Given the description of an element on the screen output the (x, y) to click on. 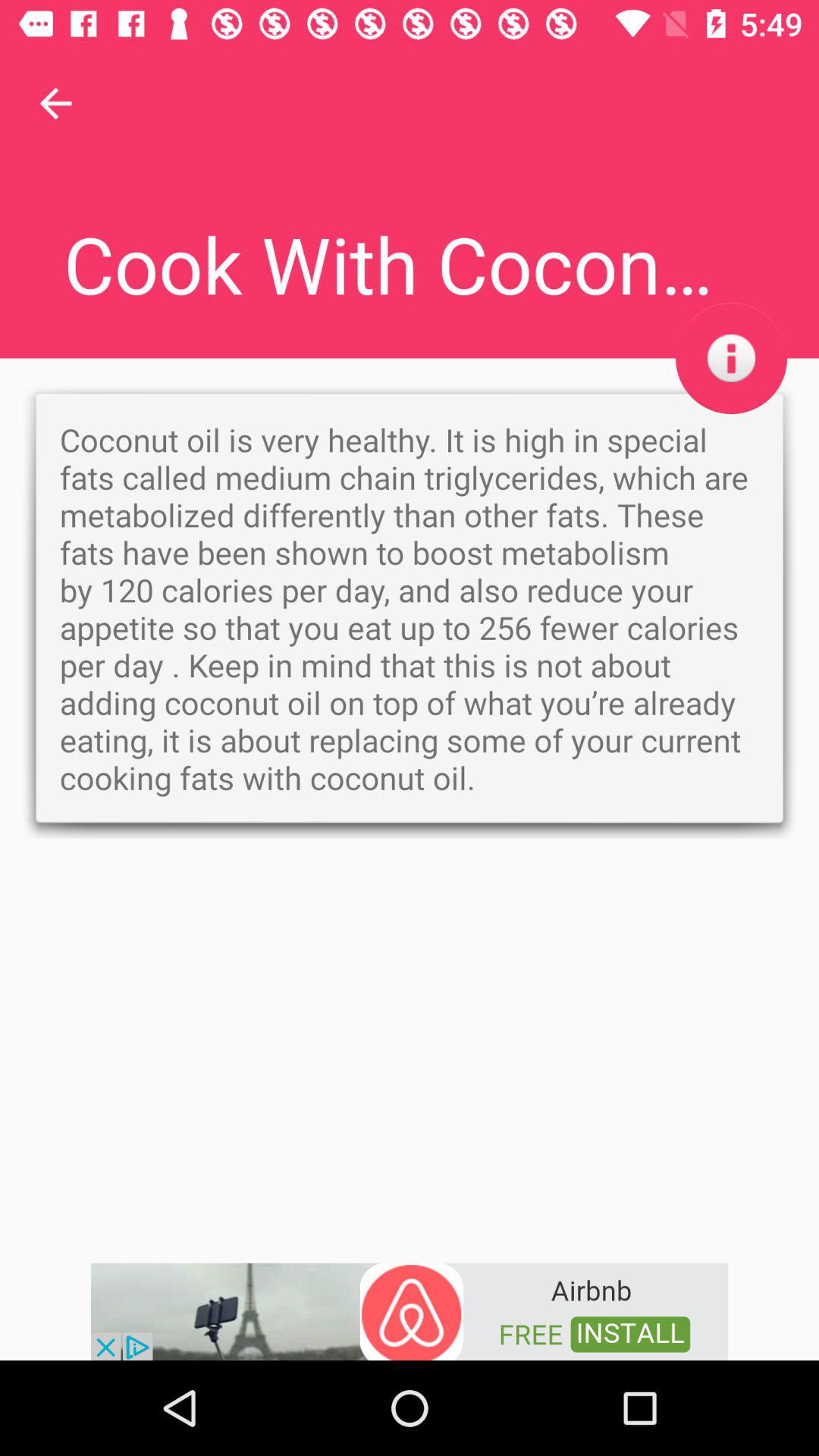
advertisement bar (409, 1310)
